Given the description of an element on the screen output the (x, y) to click on. 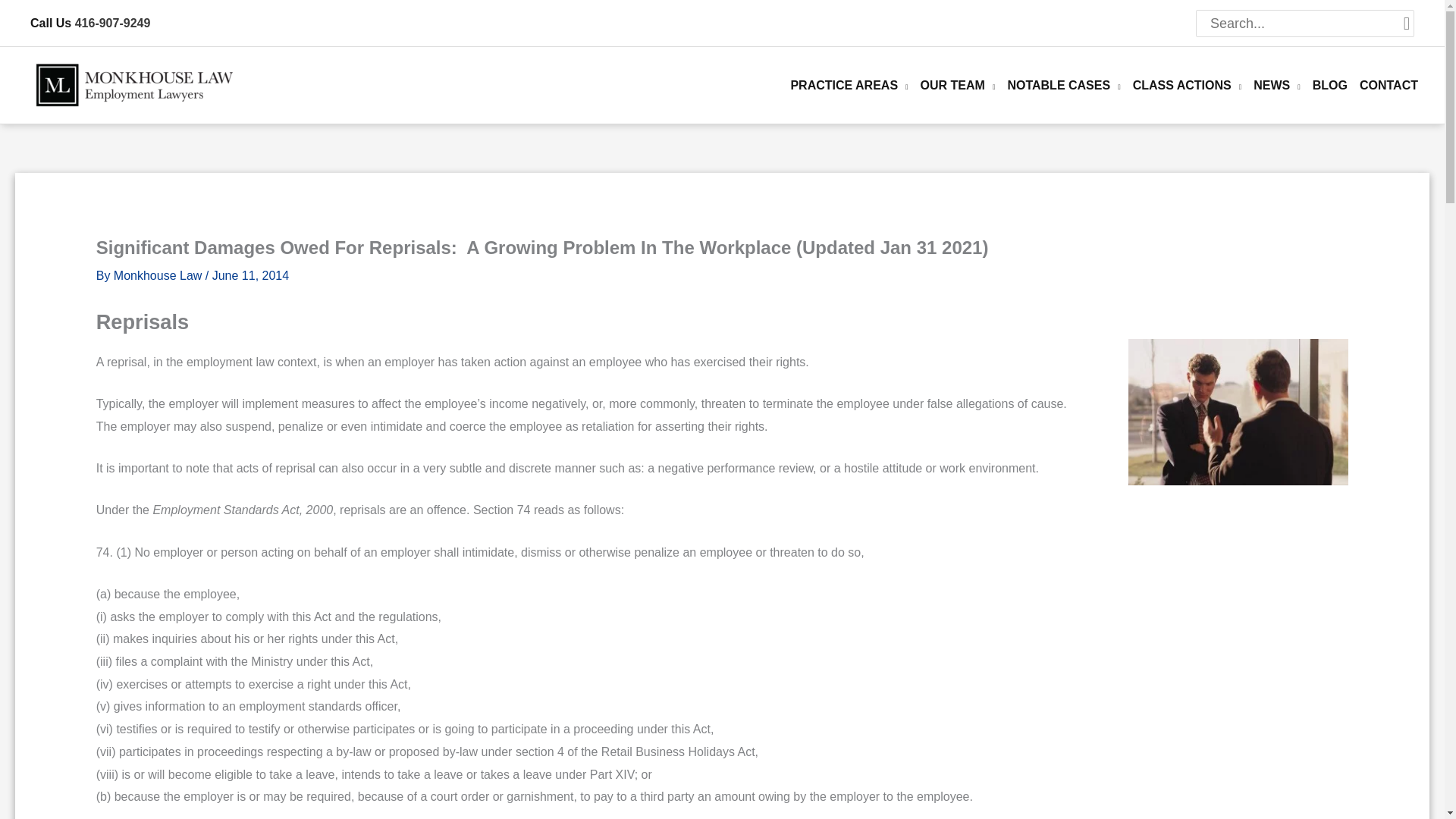
PRACTICE AREAS (842, 84)
OUR TEAM (951, 84)
View all posts by Monkhouse Law (159, 275)
416-907-9249 (113, 22)
